Given the description of an element on the screen output the (x, y) to click on. 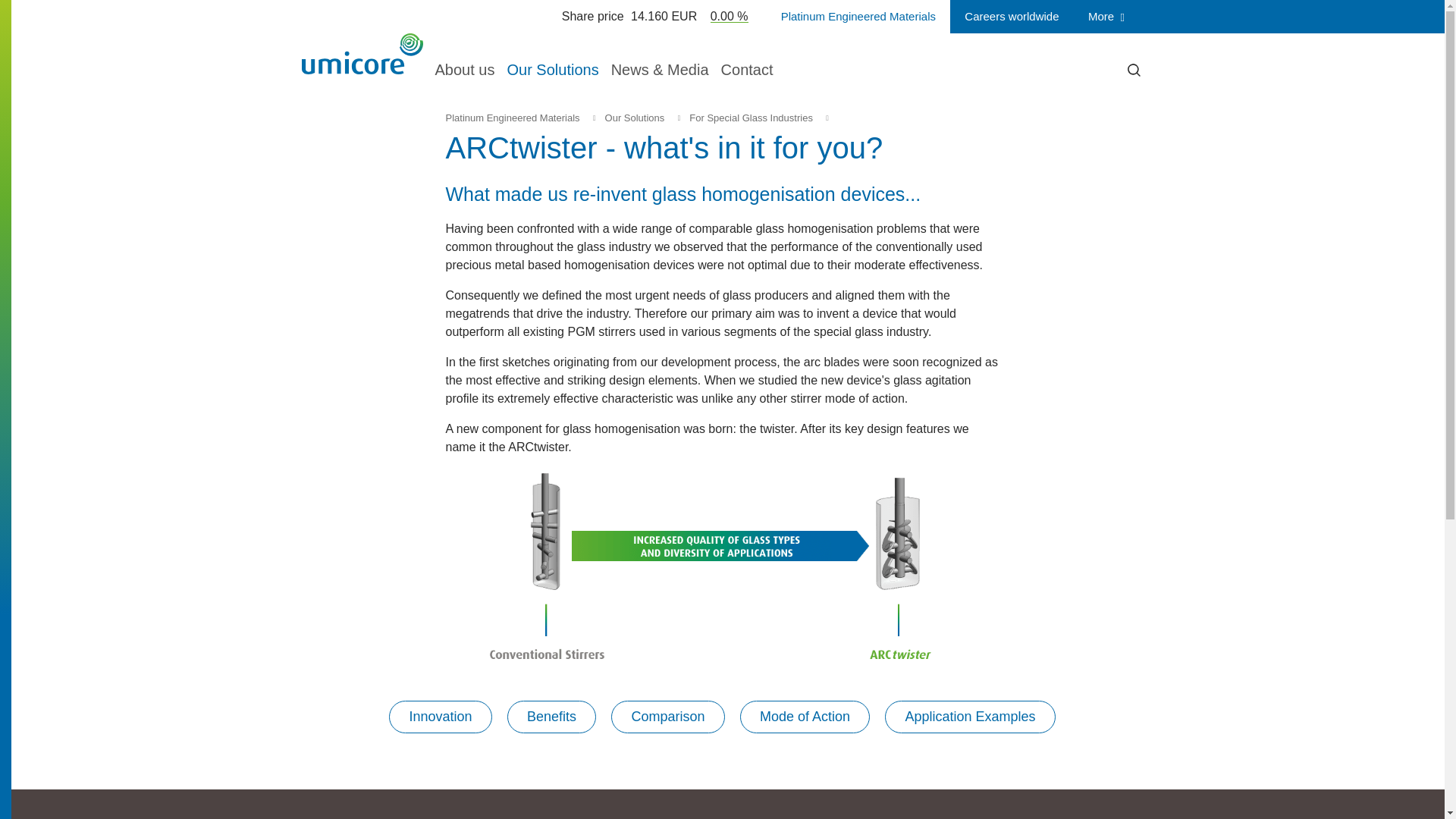
Platinum Engineered Materials (512, 117)
More (1108, 16)
For Special Glass Industries (750, 117)
Our Solutions (635, 117)
Careers worldwide (1012, 16)
About us (465, 67)
Contact (746, 67)
Our Solutions (552, 67)
